Given the description of an element on the screen output the (x, y) to click on. 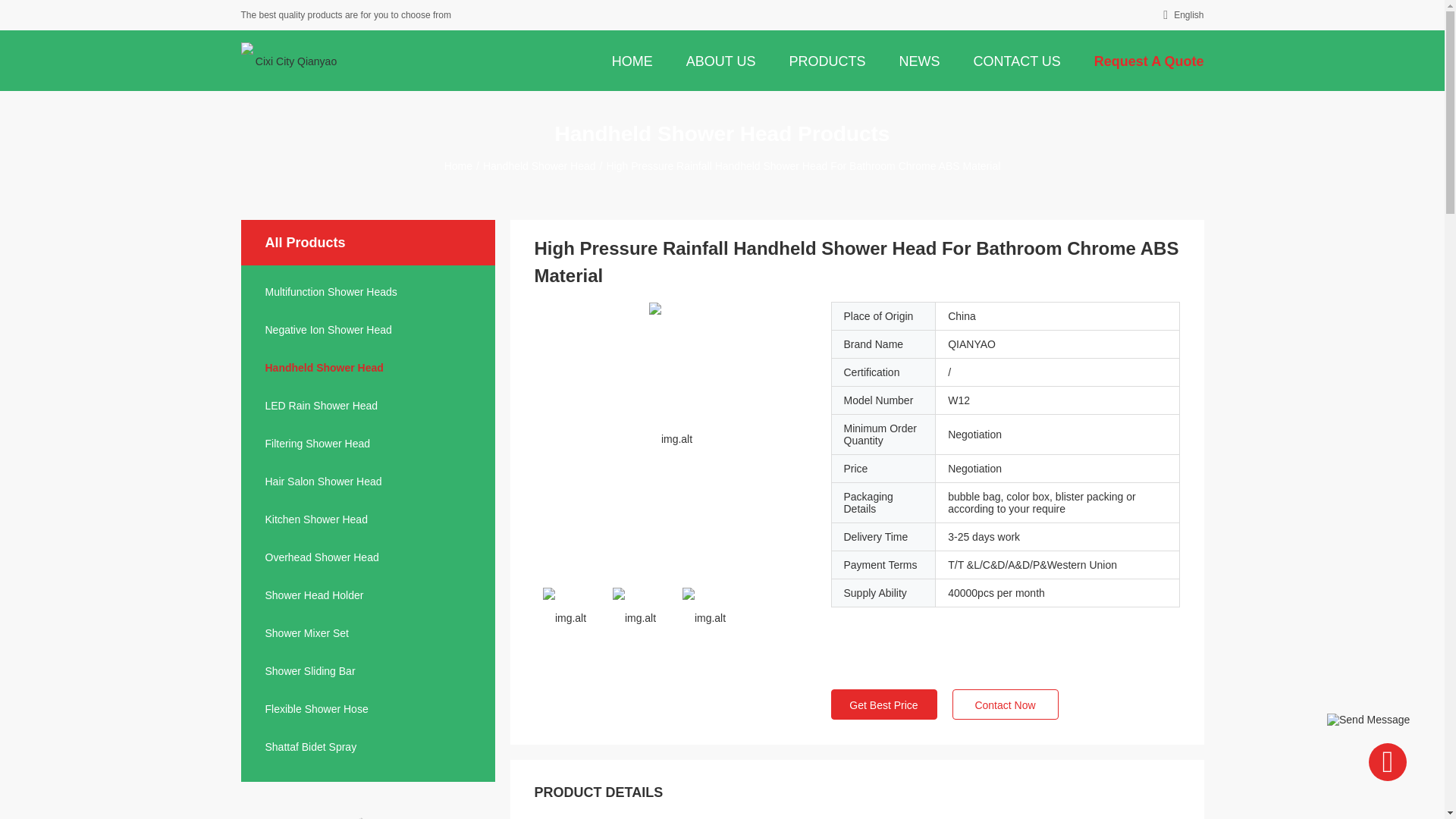
About Us (721, 60)
Home (457, 164)
HOME (632, 60)
Handheld Shower Head (539, 164)
Products (826, 60)
Home (632, 60)
CONTACT US (1015, 60)
PRODUCTS (826, 60)
Multifunction Shower Heads (368, 291)
Request A Quote (1148, 60)
Cixi City Qianyao Sanitary Ware Factory (290, 60)
NEWS (919, 60)
ABOUT US (721, 60)
